Given the description of an element on the screen output the (x, y) to click on. 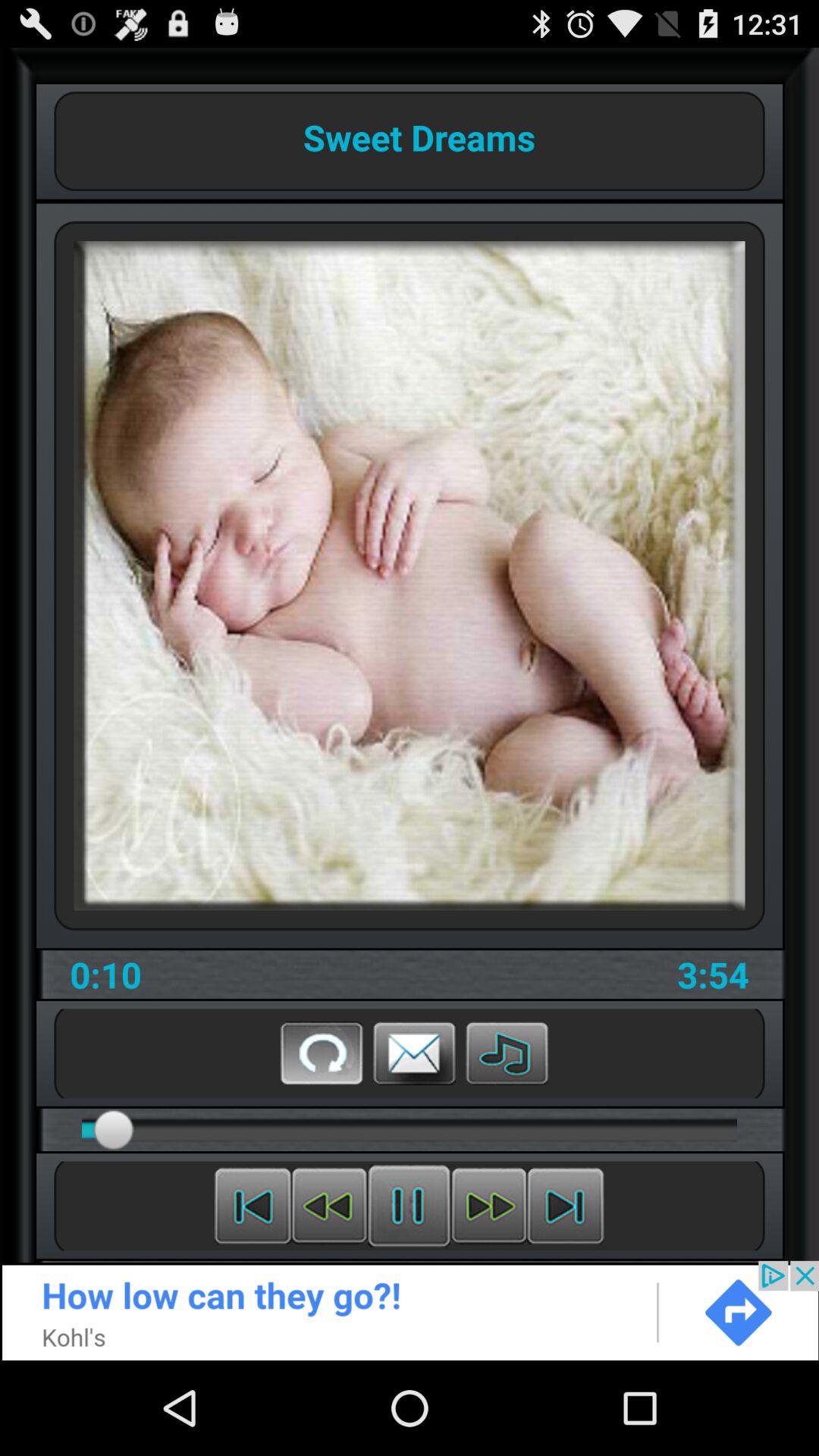
email this video (414, 1053)
